Given the description of an element on the screen output the (x, y) to click on. 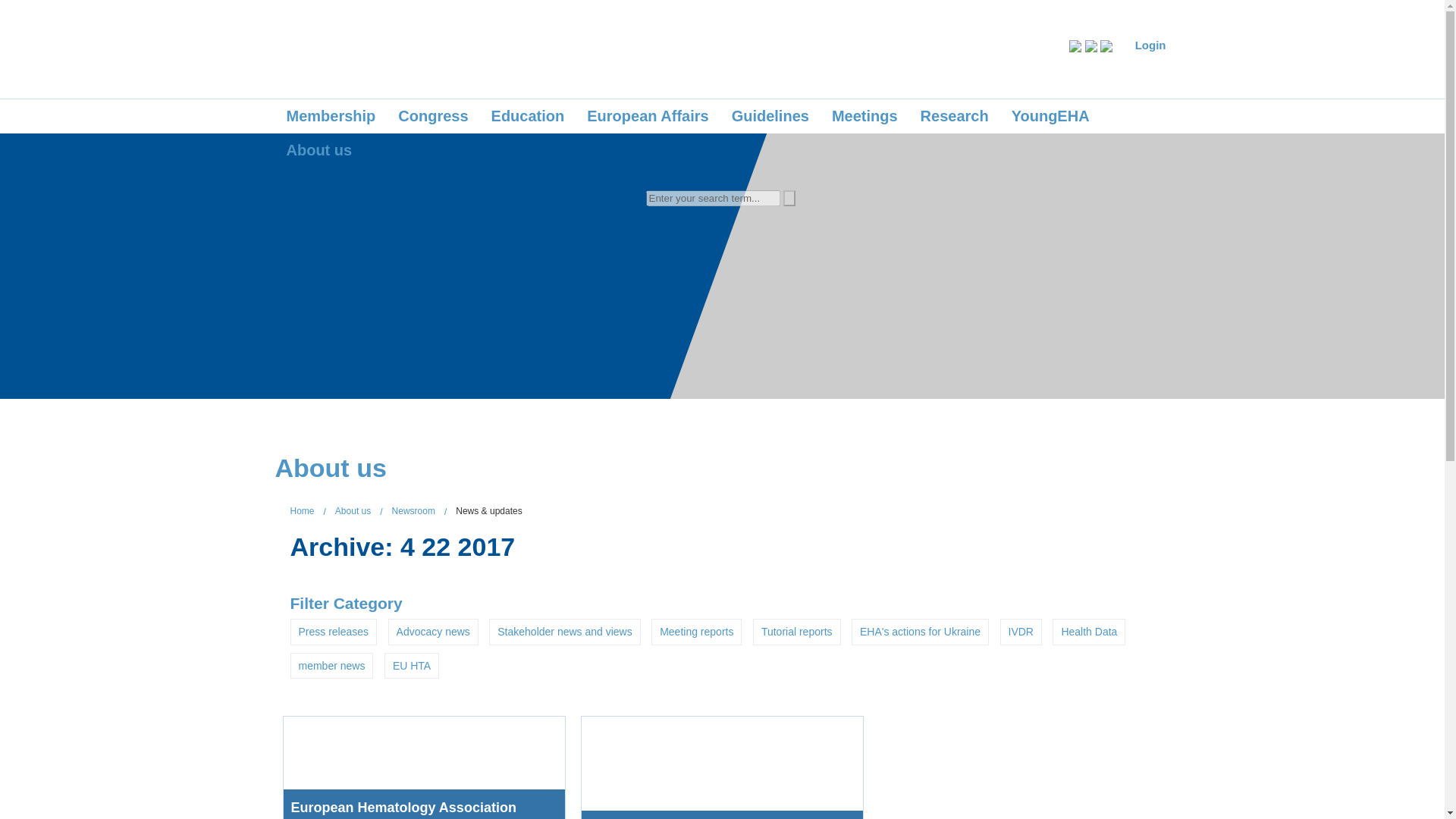
Press releases (333, 631)
Health Data (1088, 631)
member news (330, 665)
EHA's actions for Ukraine (919, 631)
IVDR (1021, 631)
Meeting reports (695, 631)
EU HTA (411, 665)
Tutorial reports (796, 631)
Advocacy news (433, 631)
Stakeholder news and views (564, 631)
